Given the description of an element on the screen output the (x, y) to click on. 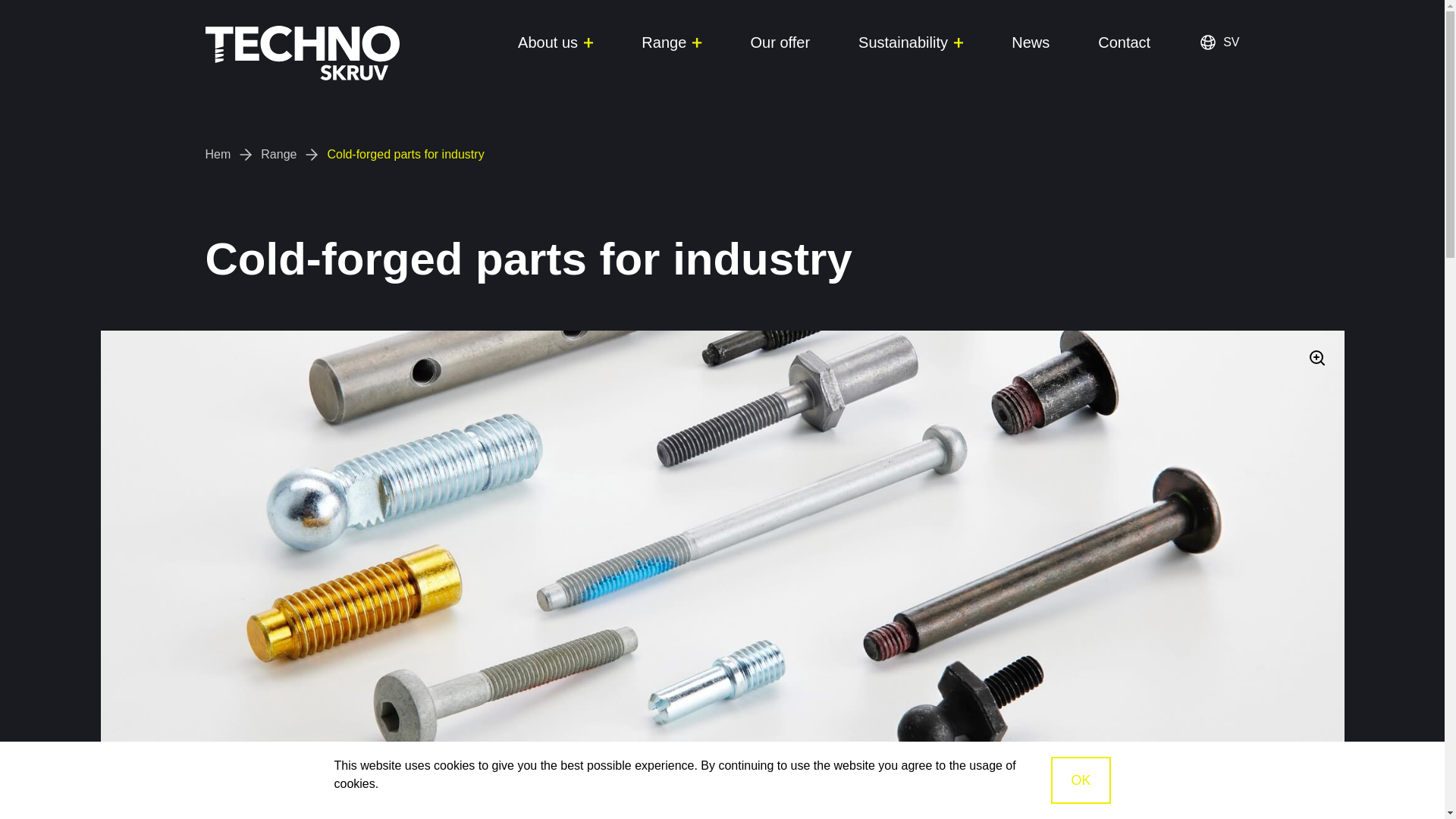
OK (1080, 779)
News (1030, 42)
Contact (1123, 42)
To frontpage (301, 48)
Range (278, 154)
Sustainability (910, 42)
Our offer (780, 42)
Range (671, 42)
About us (555, 42)
Hem (217, 154)
